Given the description of an element on the screen output the (x, y) to click on. 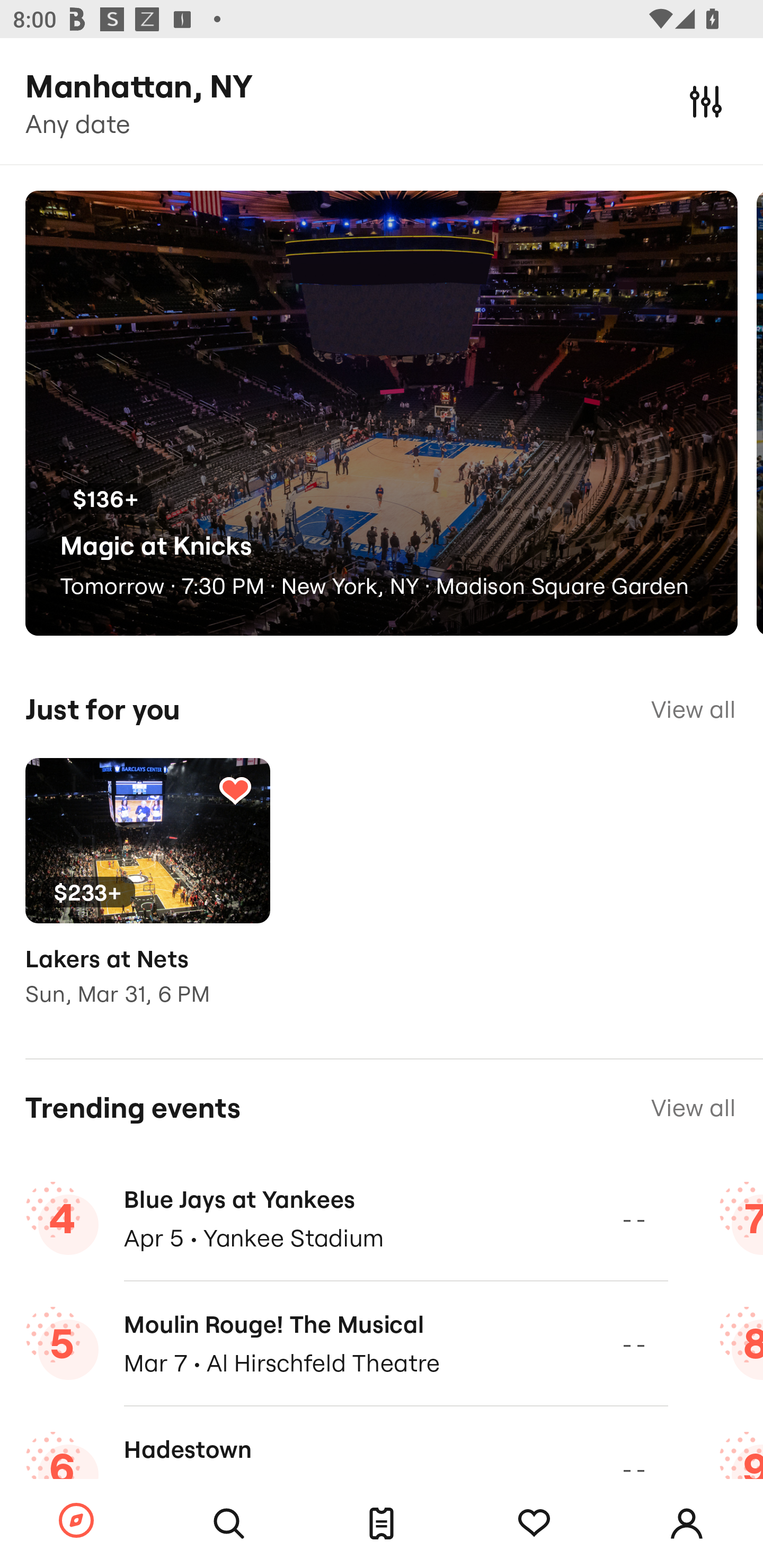
Filters (705, 100)
View all (693, 709)
Tracking $233+ Lakers at Nets Sun, Mar 31, 6 PM (147, 895)
Tracking (234, 790)
View all (693, 1108)
Browse (76, 1521)
Search (228, 1523)
Tickets (381, 1523)
Tracking (533, 1523)
Account (686, 1523)
